Given the description of an element on the screen output the (x, y) to click on. 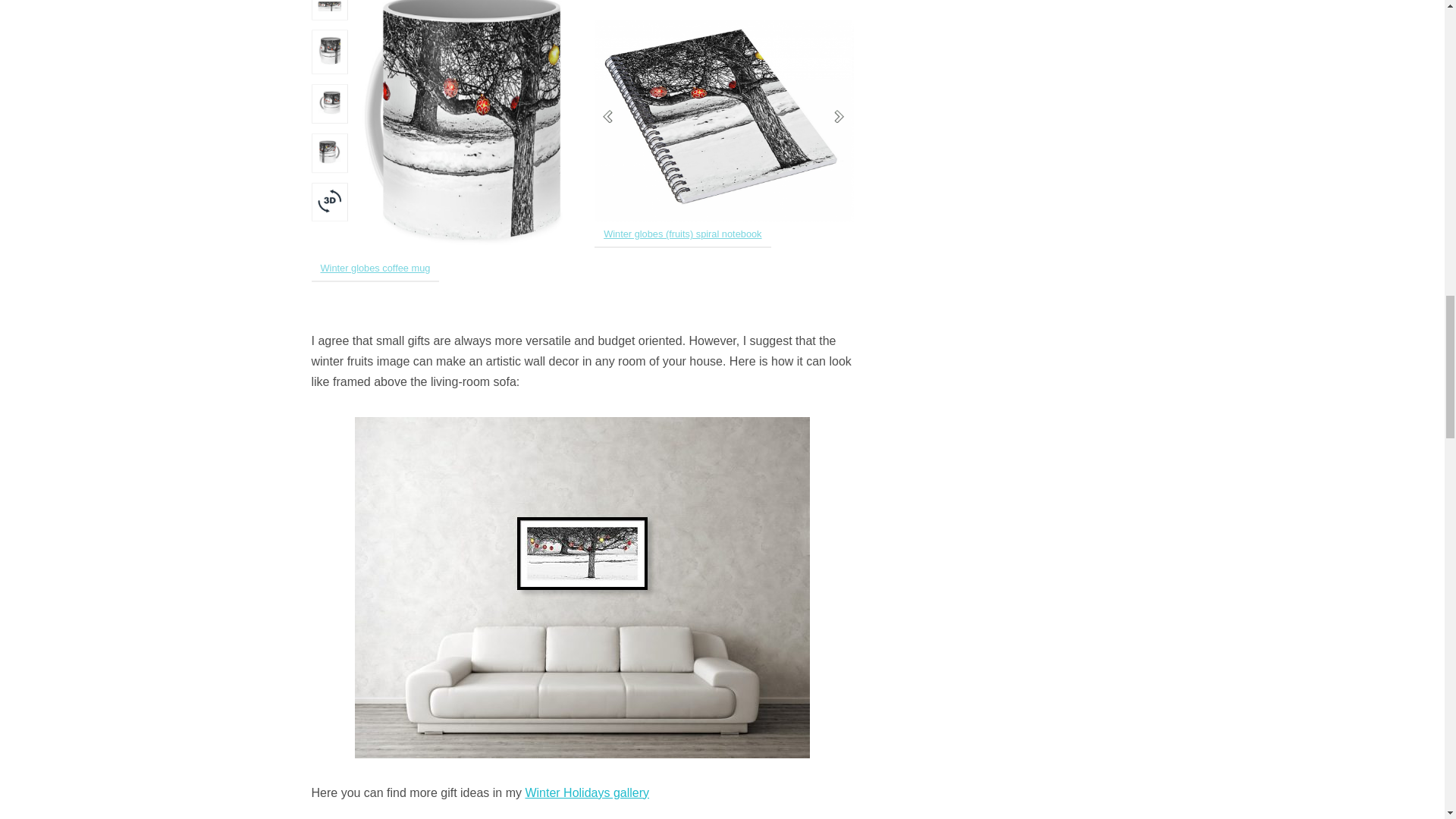
Winter Holidays gallery (586, 792)
Winter globes coffee mug (374, 267)
